Given the description of an element on the screen output the (x, y) to click on. 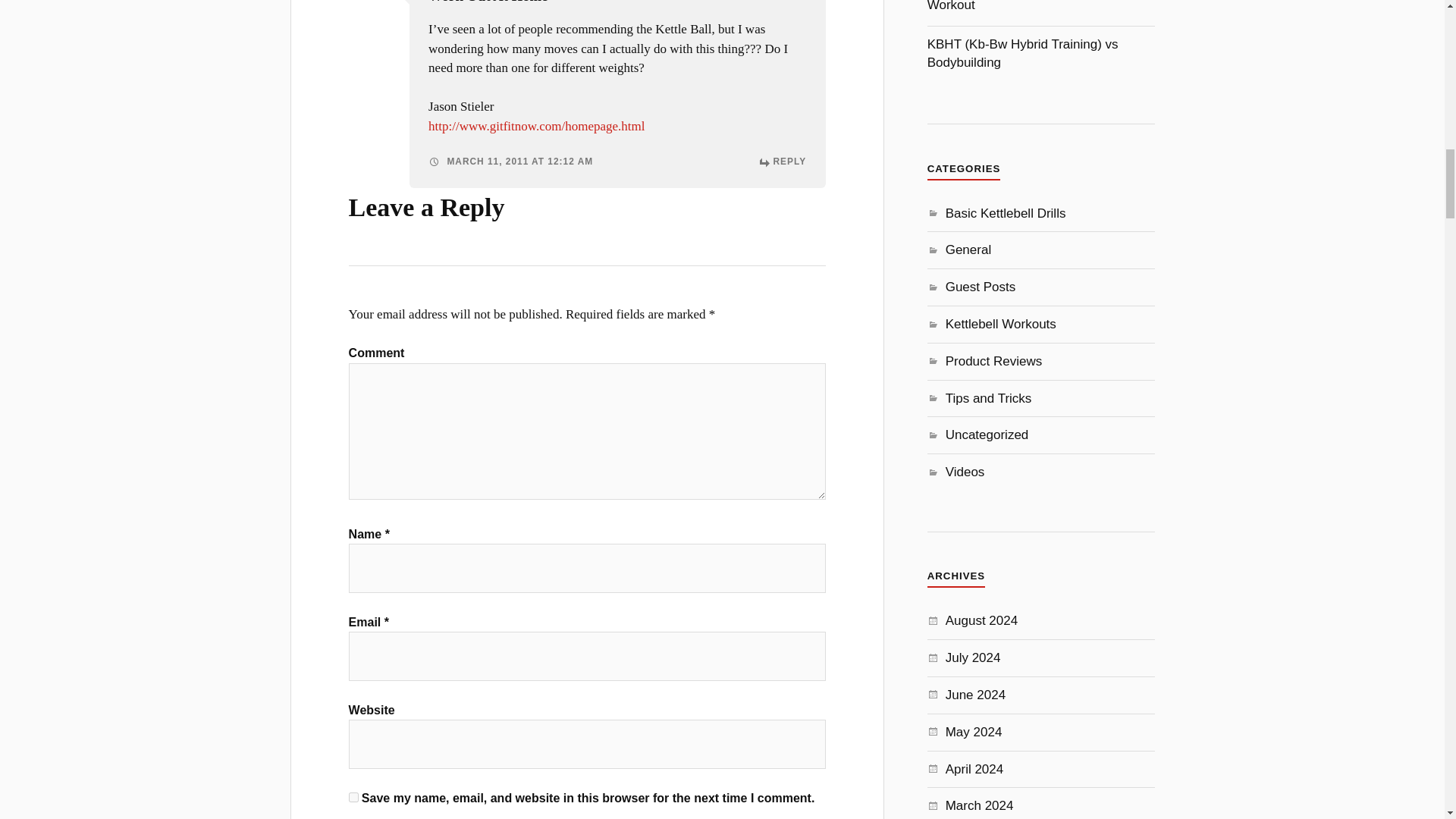
MARCH 11, 2011 AT 12:12 AM (510, 161)
yes (353, 797)
REPLY (782, 161)
Kettlebell and Resistance Band Workout (1016, 6)
Work Out At Home (487, 2)
